Given the description of an element on the screen output the (x, y) to click on. 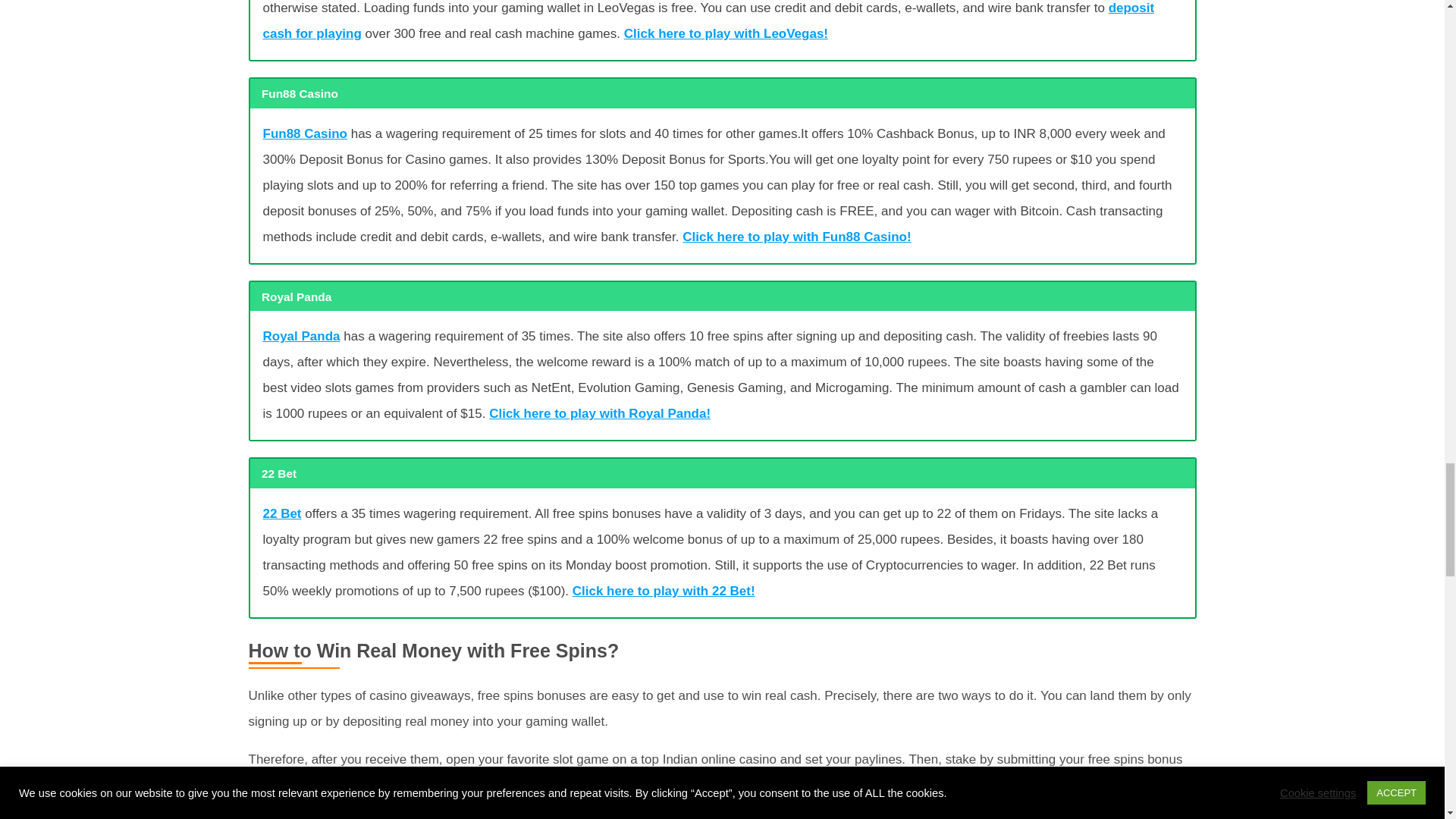
deposit cash for playing (708, 20)
